Given the description of an element on the screen output the (x, y) to click on. 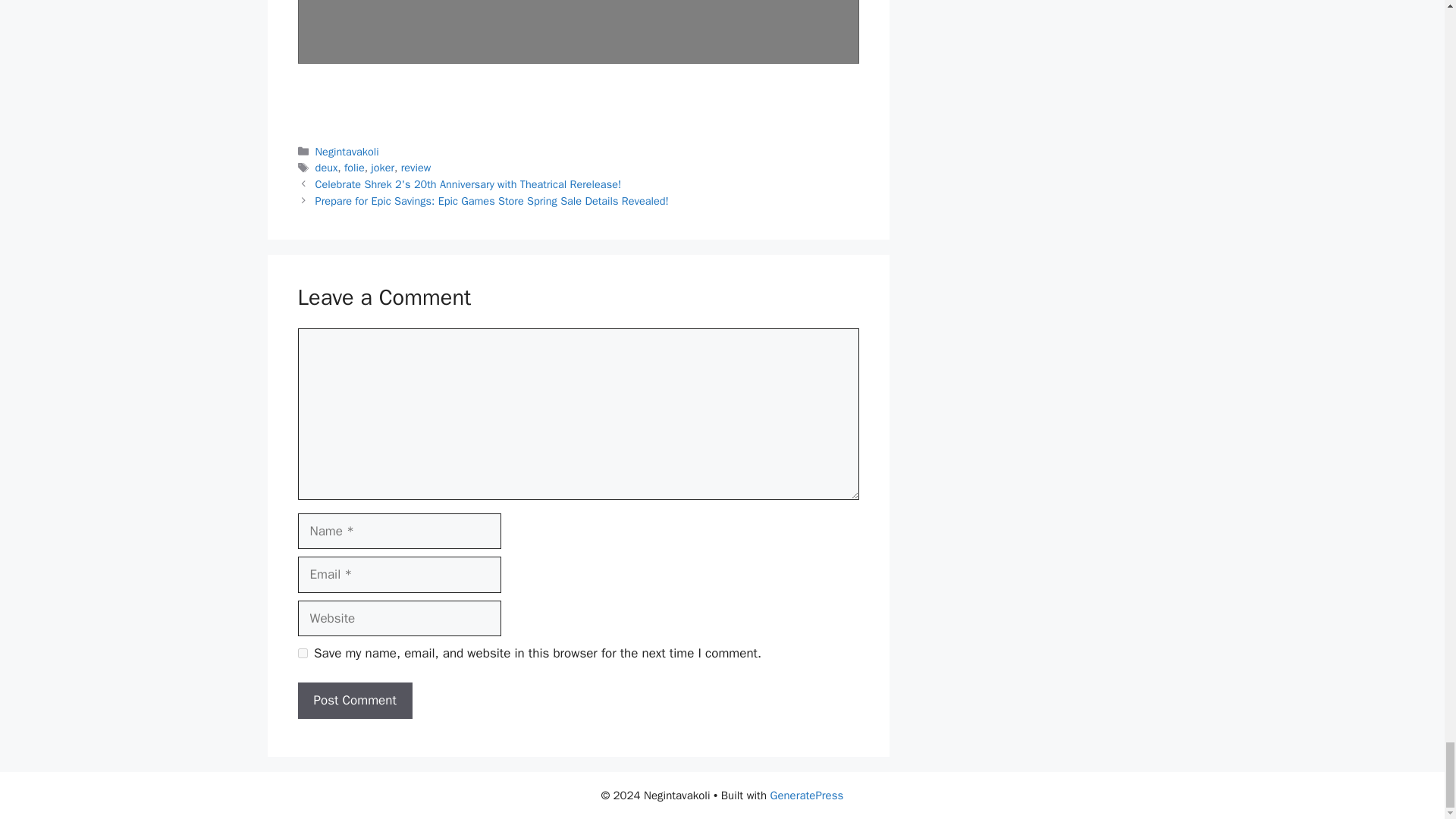
yes (302, 653)
review (415, 167)
Negintavakoli (346, 151)
GeneratePress (807, 795)
joker (382, 167)
deux (326, 167)
Post Comment (354, 700)
Post Comment (354, 700)
folie (354, 167)
